Given the description of an element on the screen output the (x, y) to click on. 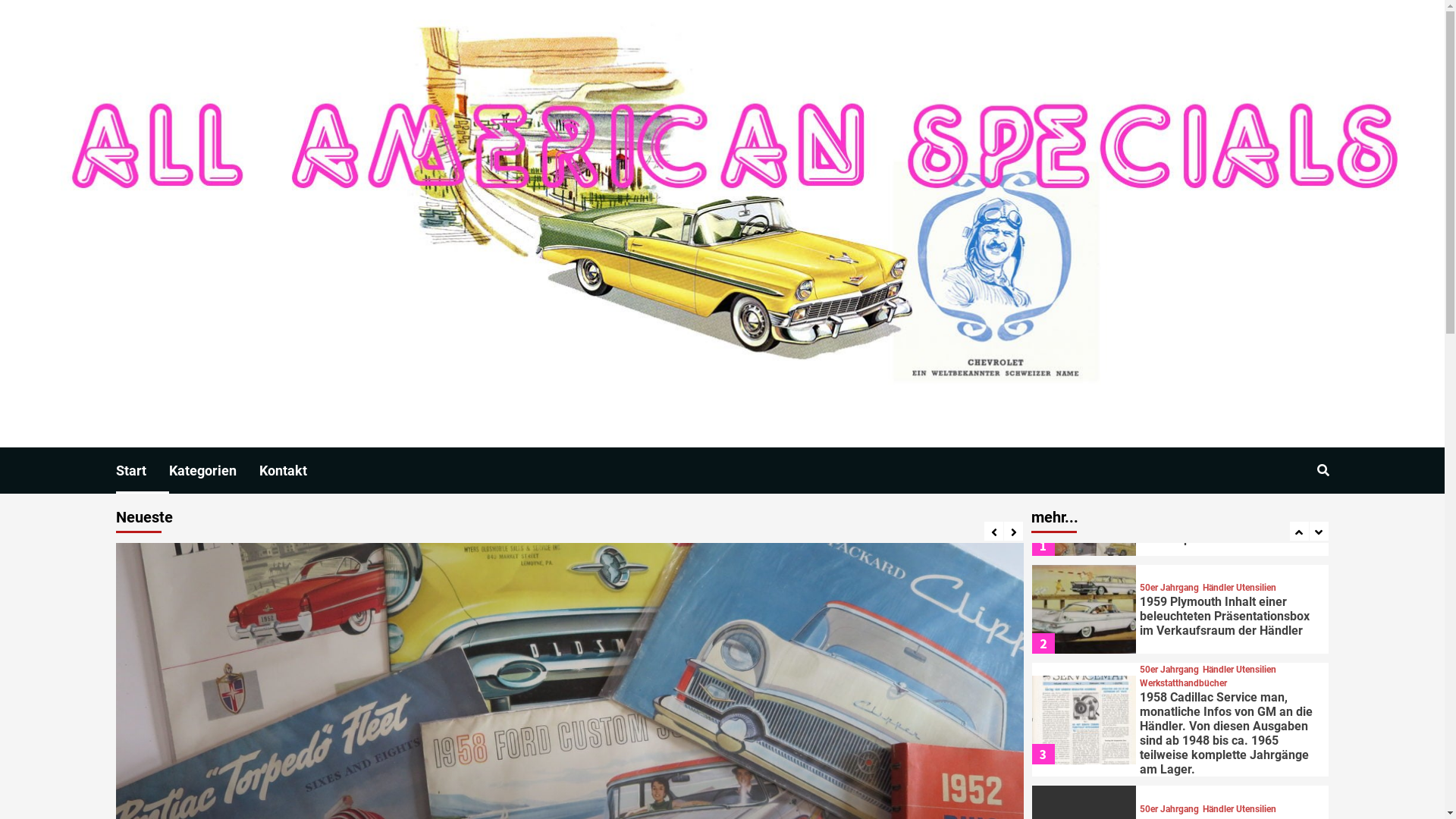
40er Jahrgang Element type: text (1168, 594)
70er Jahrgang Element type: text (1231, 608)
30er Jahrgang Element type: text (1231, 581)
Kontakt Element type: text (294, 470)
50er Jahrgang Element type: text (1231, 594)
Prospekte Element type: text (1222, 622)
50er Jahrgang Element type: text (1168, 685)
US Prospekte Brochures Element type: text (1206, 636)
10er Jahrgang Element type: text (1168, 581)
90er Jahrgang Element type: text (1168, 622)
Kategorien Element type: text (213, 470)
60er Jahrgang Element type: text (1168, 608)
All american Element type: text (511, 223)
50er Jahrgang Element type: text (1168, 766)
Start Element type: text (141, 470)
